Given the description of an element on the screen output the (x, y) to click on. 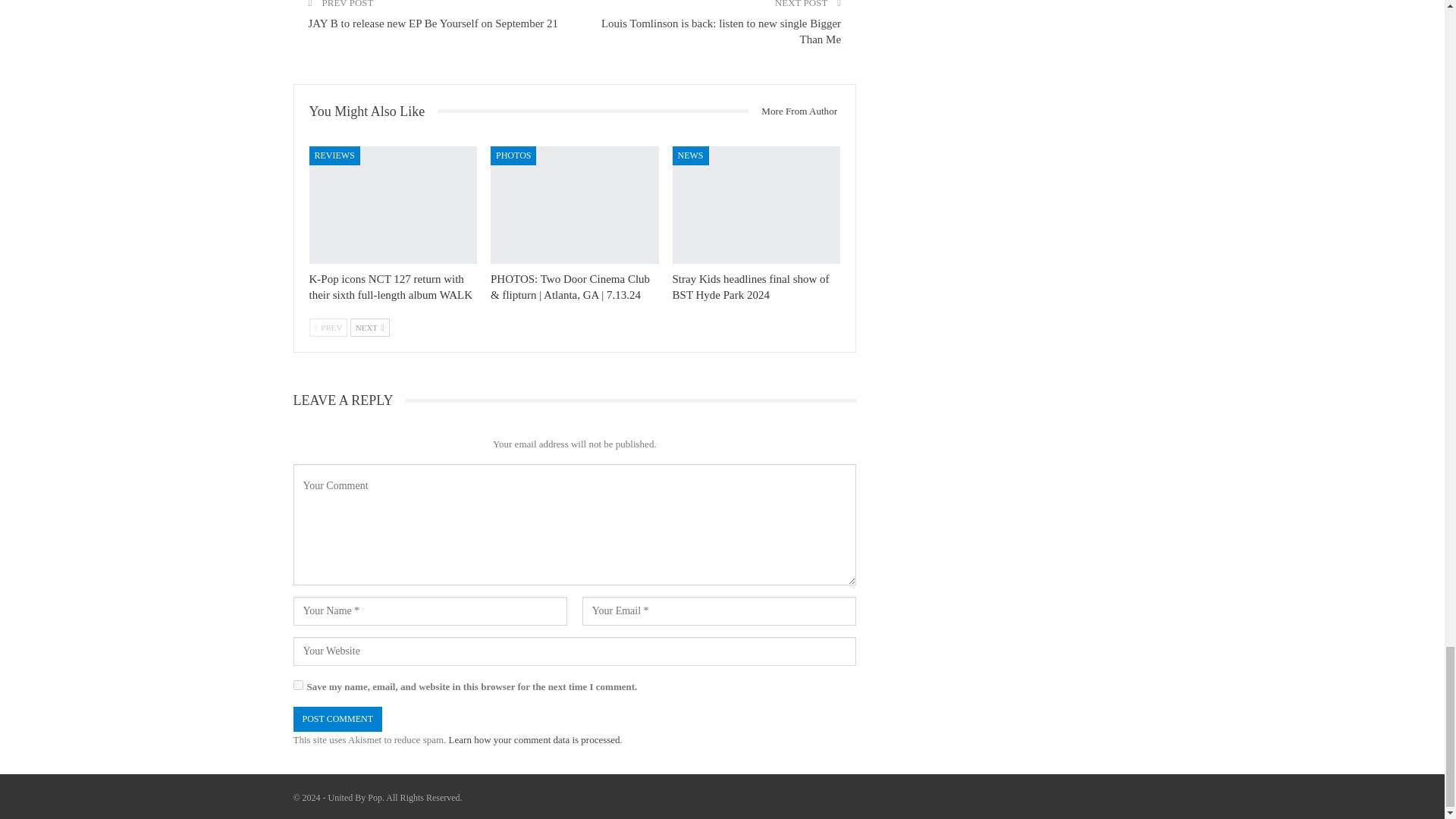
Post Comment (336, 719)
yes (297, 685)
